Given the description of an element on the screen output the (x, y) to click on. 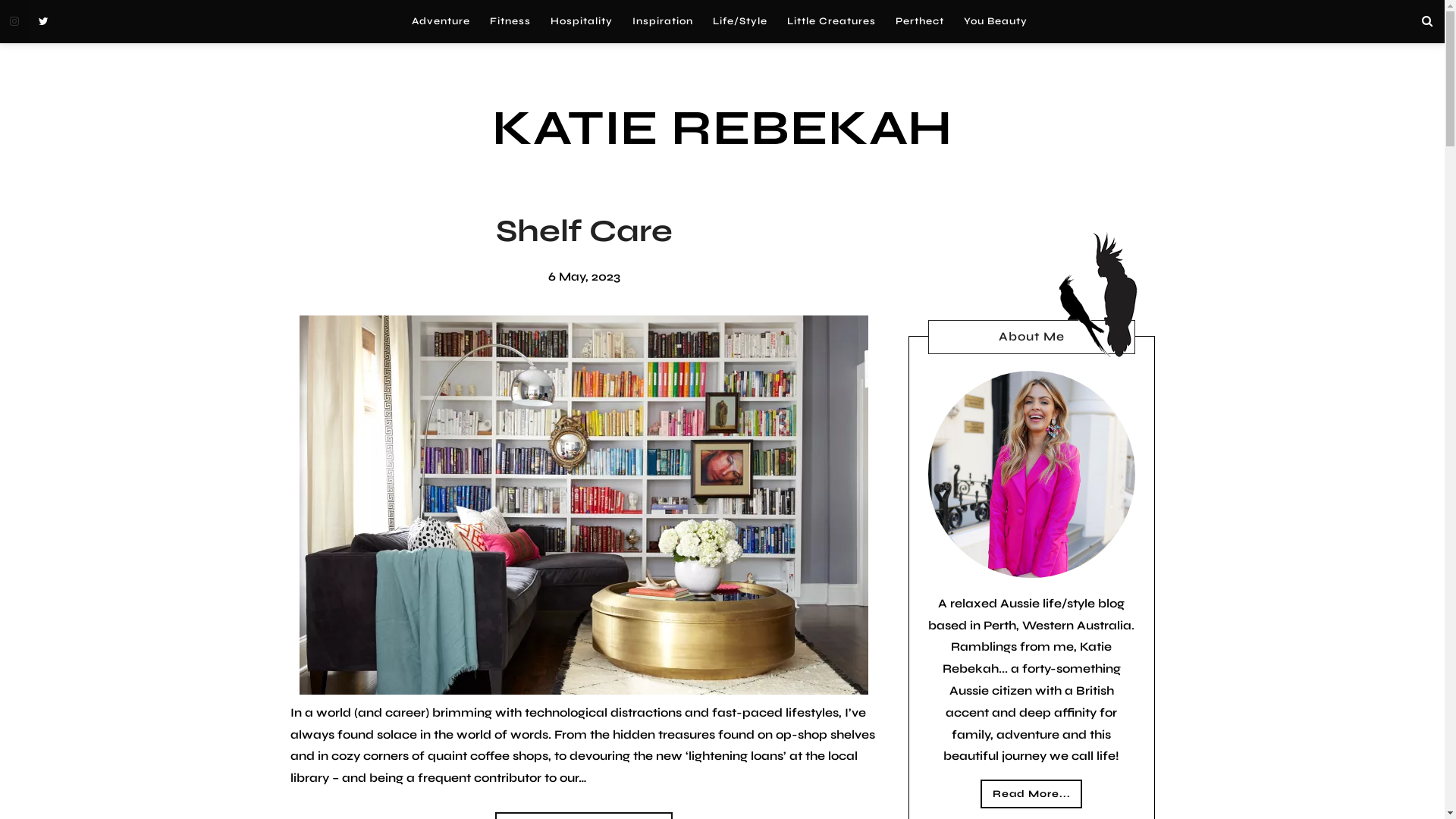
Life/Style Element type: text (739, 21)
Shelf Care Element type: text (583, 230)
Read More... Element type: text (1031, 793)
Perthect Element type: text (919, 21)
KATIE REBEKAH Element type: text (722, 128)
Inspiration Element type: text (661, 21)
Fitness Element type: text (509, 21)
Adventure Element type: text (440, 21)
Little Creatures Element type: text (830, 21)
You Beauty Element type: text (995, 21)
Hospitality Element type: text (580, 21)
